Given the description of an element on the screen output the (x, y) to click on. 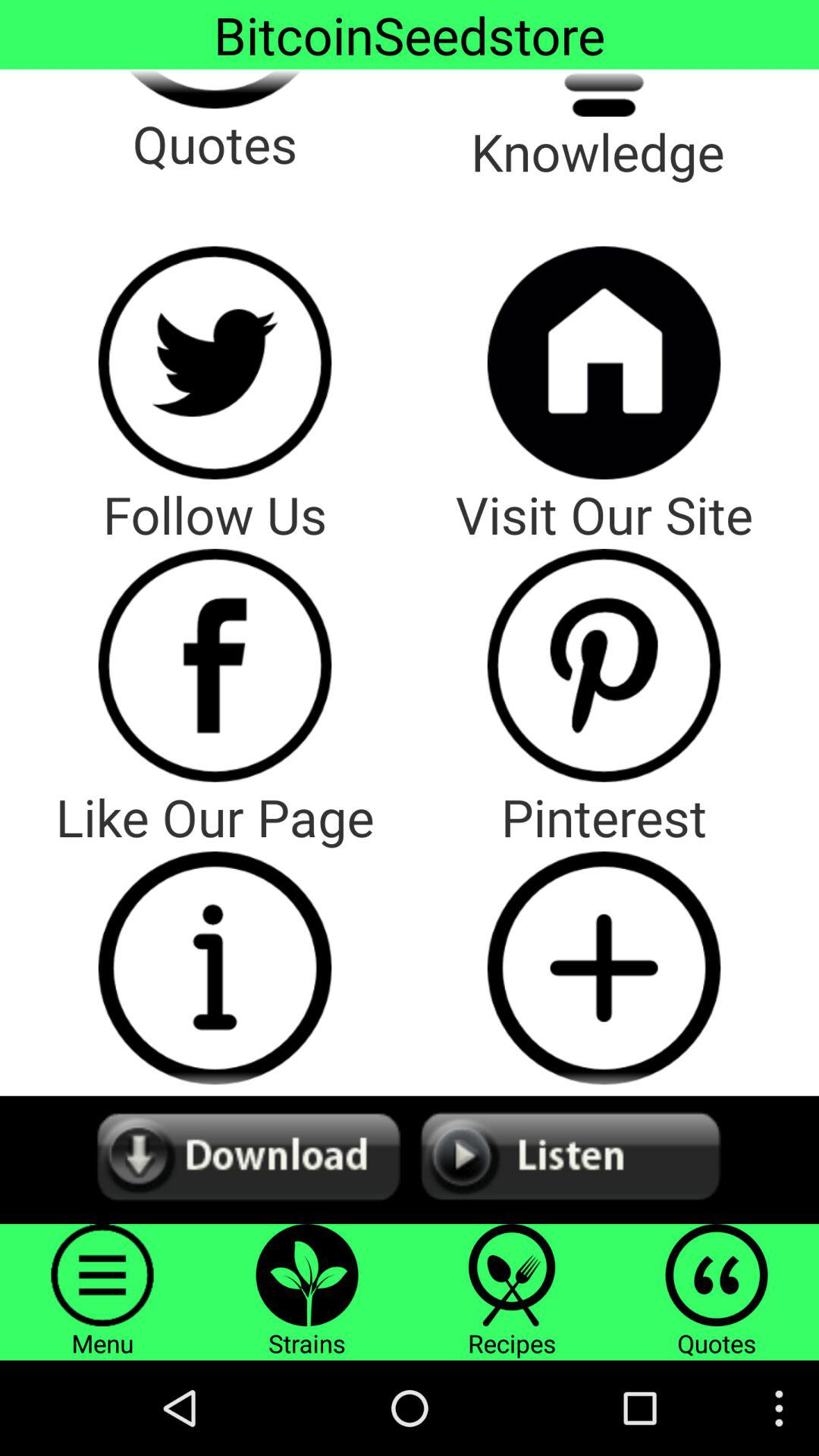
visit the store 's pinterest page (603, 665)
